Given the description of an element on the screen output the (x, y) to click on. 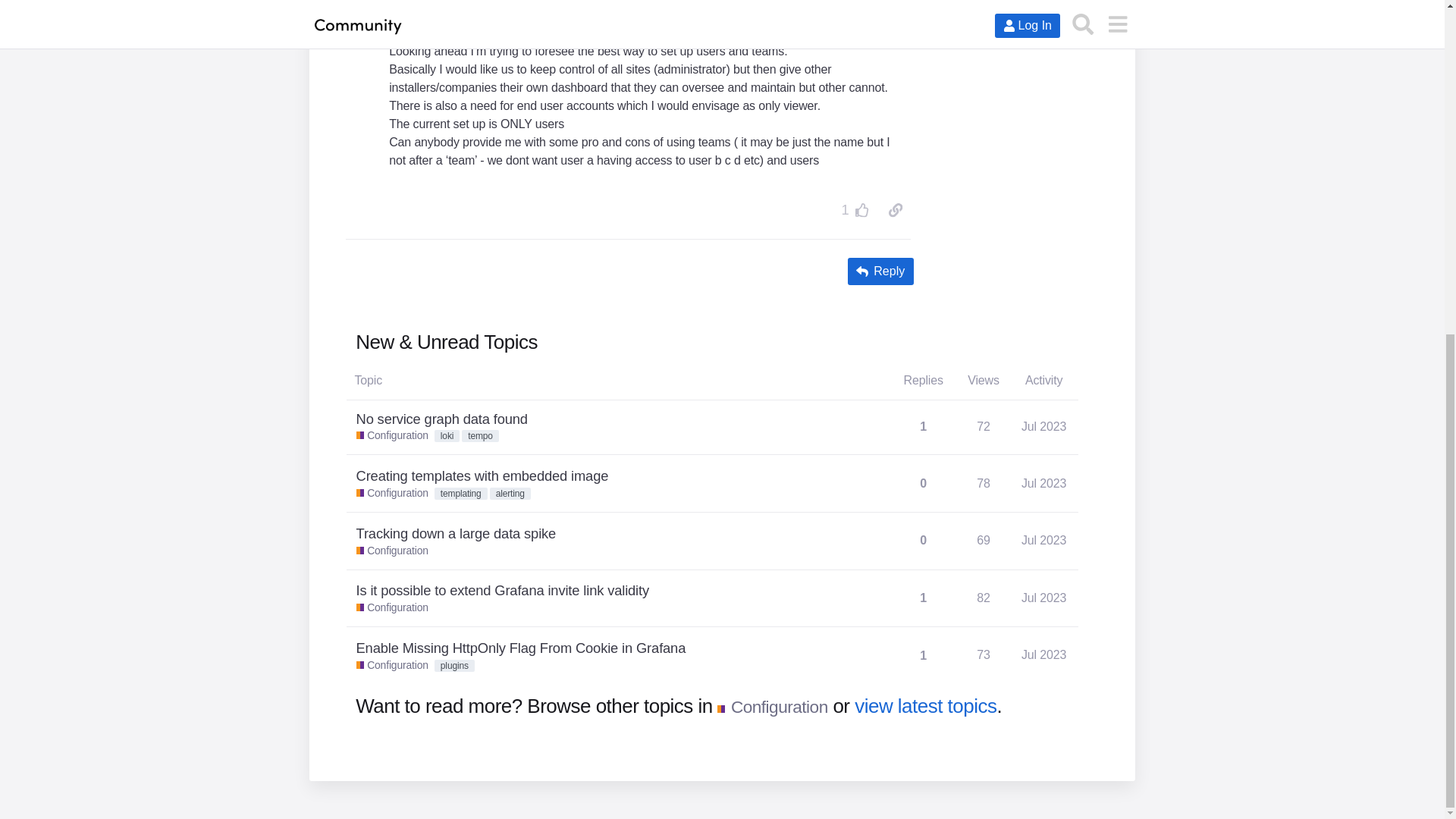
Reply (880, 271)
Jul 2023 (1045, 432)
Configuration (1043, 426)
alerting (392, 493)
Documentation about: (510, 493)
Please sign up or log in to like this post (392, 435)
templating (862, 209)
Configuration (460, 493)
copy a link to this post to clipboard (392, 435)
No service graph data found (895, 209)
this topic has been viewed 72 times (441, 418)
loki (983, 426)
Jul 2023 (446, 435)
Creating templates with embedded image (1043, 483)
